Given the description of an element on the screen output the (x, y) to click on. 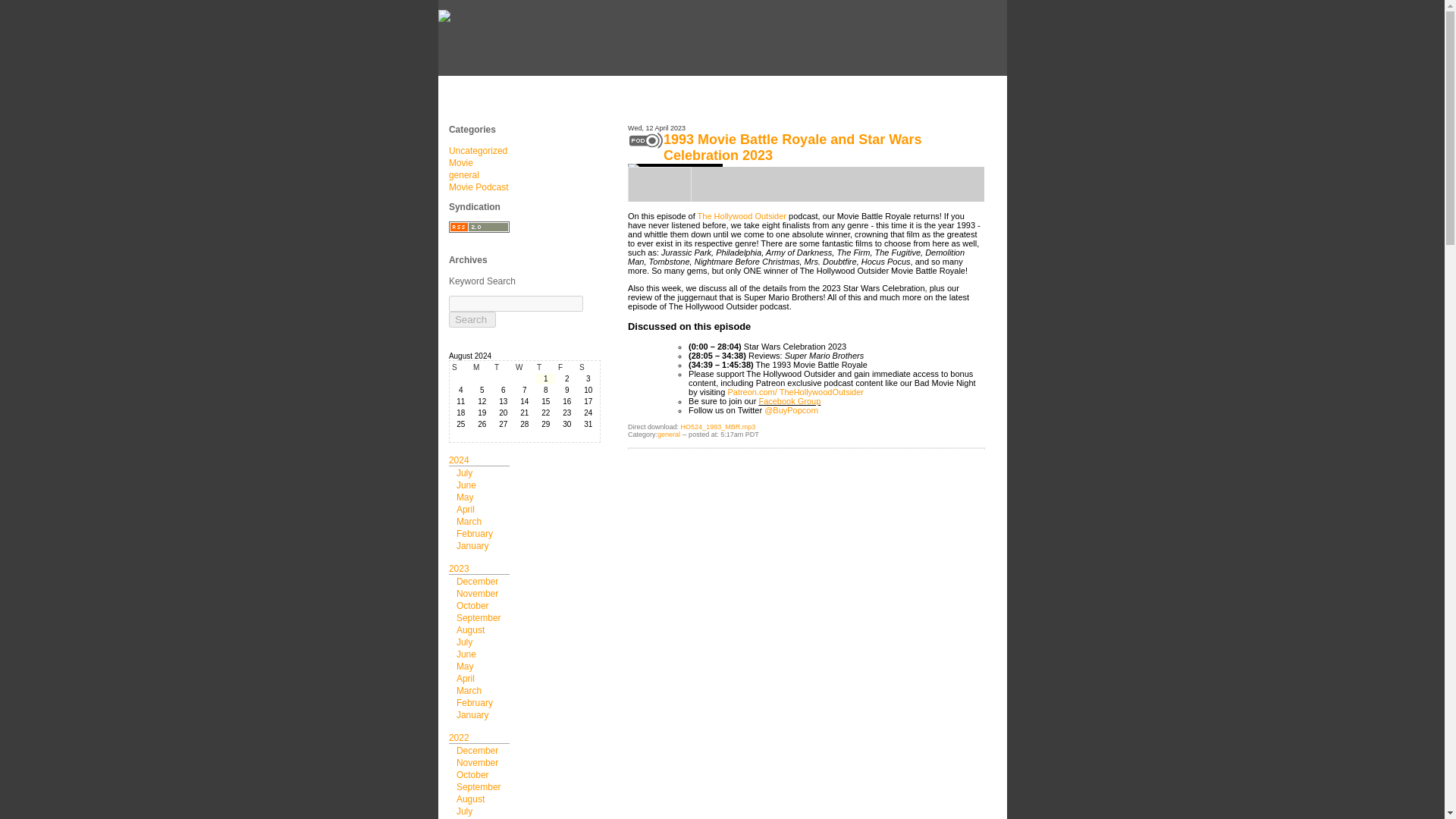
July (464, 472)
Search  (472, 319)
Friday (566, 367)
February (475, 533)
Movie (460, 163)
April (465, 678)
October (473, 605)
general (463, 174)
Uncategorized (477, 150)
Sunday (460, 367)
